Given the description of an element on the screen output the (x, y) to click on. 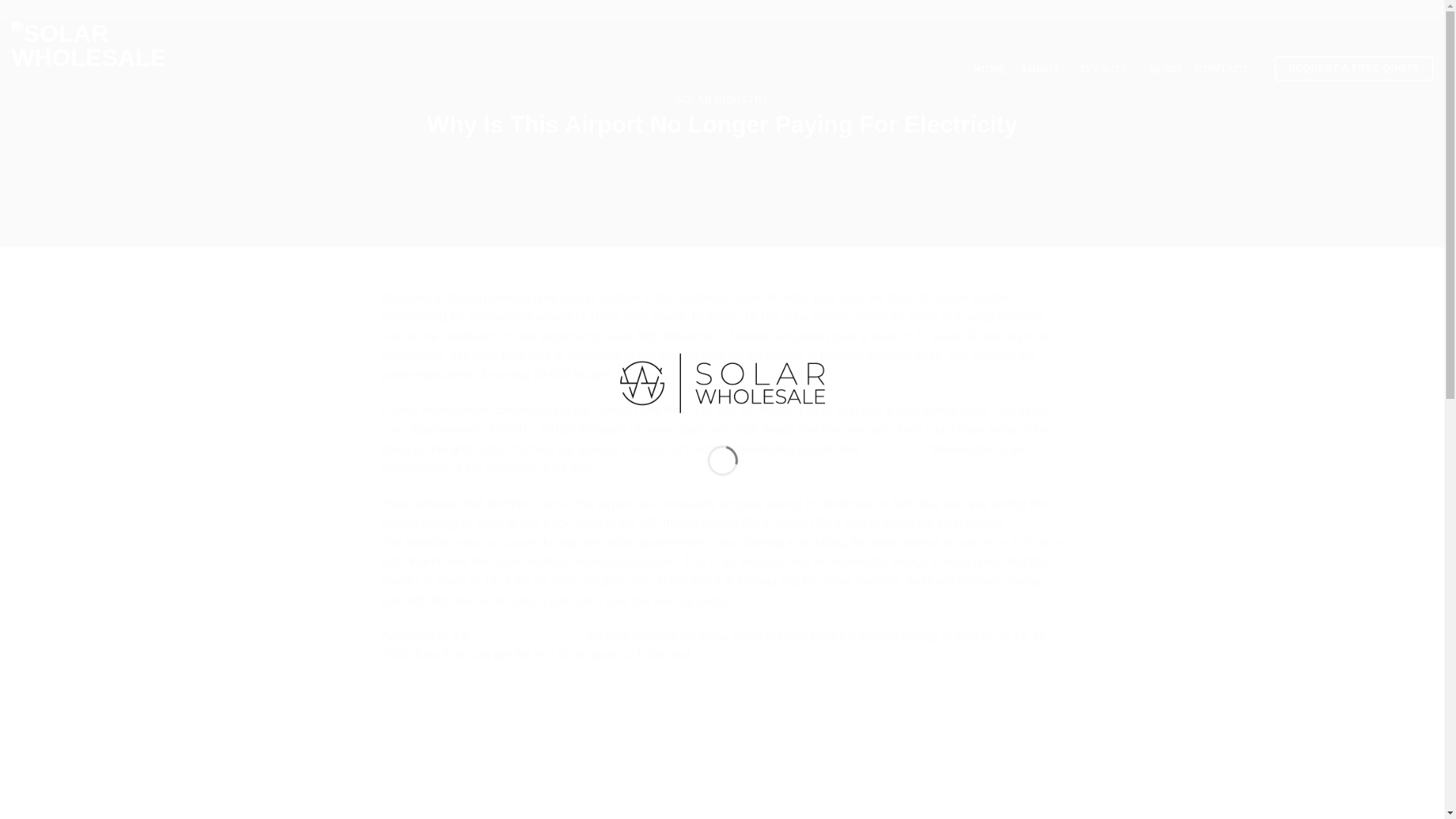
CIA World Factbook (525, 635)
REQUEST A FREE QUOTE (1353, 68)
CNNMoney (892, 449)
SOLAR INDUSTRY (721, 99)
